Given the description of an element on the screen output the (x, y) to click on. 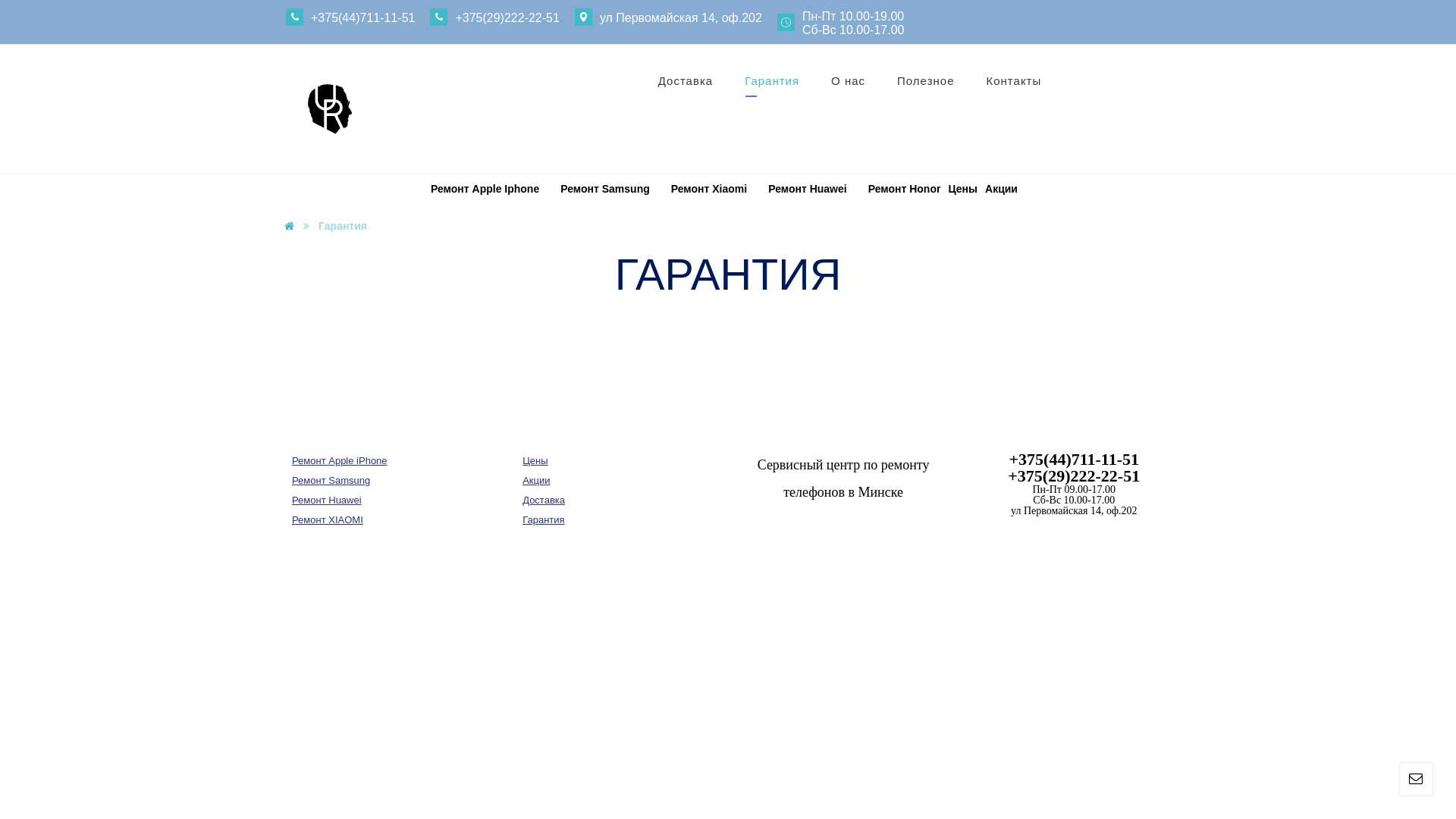
+375(44)711-11-51 Element type: text (349, 15)
unirem.by Element type: hover (329, 108)
+375(29)222-22-51 Element type: text (493, 15)
